Given the description of an element on the screen output the (x, y) to click on. 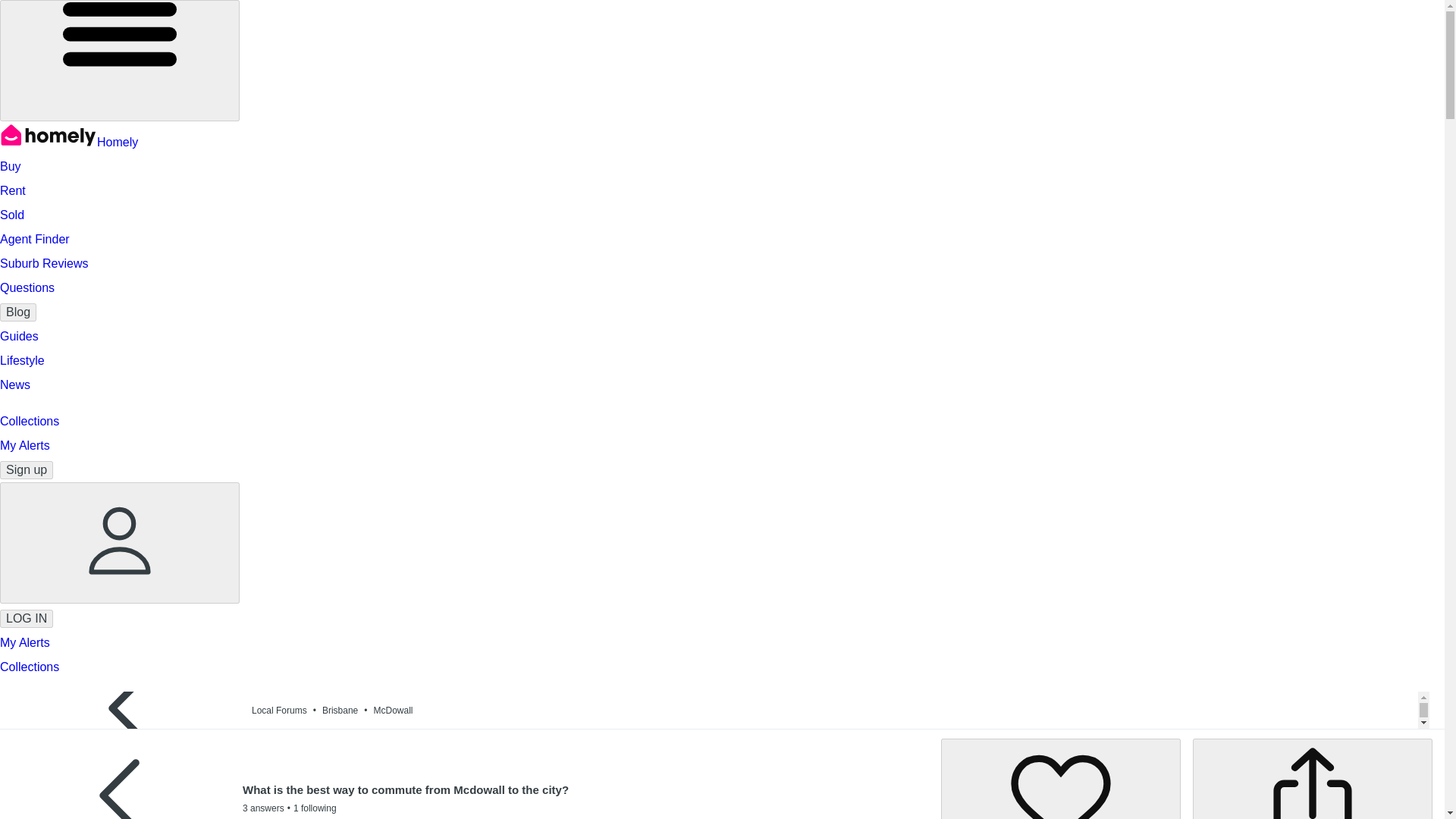
Guides (19, 336)
Buy (10, 165)
Buy (10, 165)
My Alerts (24, 445)
Blog (18, 312)
My Alerts (24, 642)
Brisbane (347, 709)
Collections (29, 666)
Local Forums (286, 709)
News (15, 384)
